Given the description of an element on the screen output the (x, y) to click on. 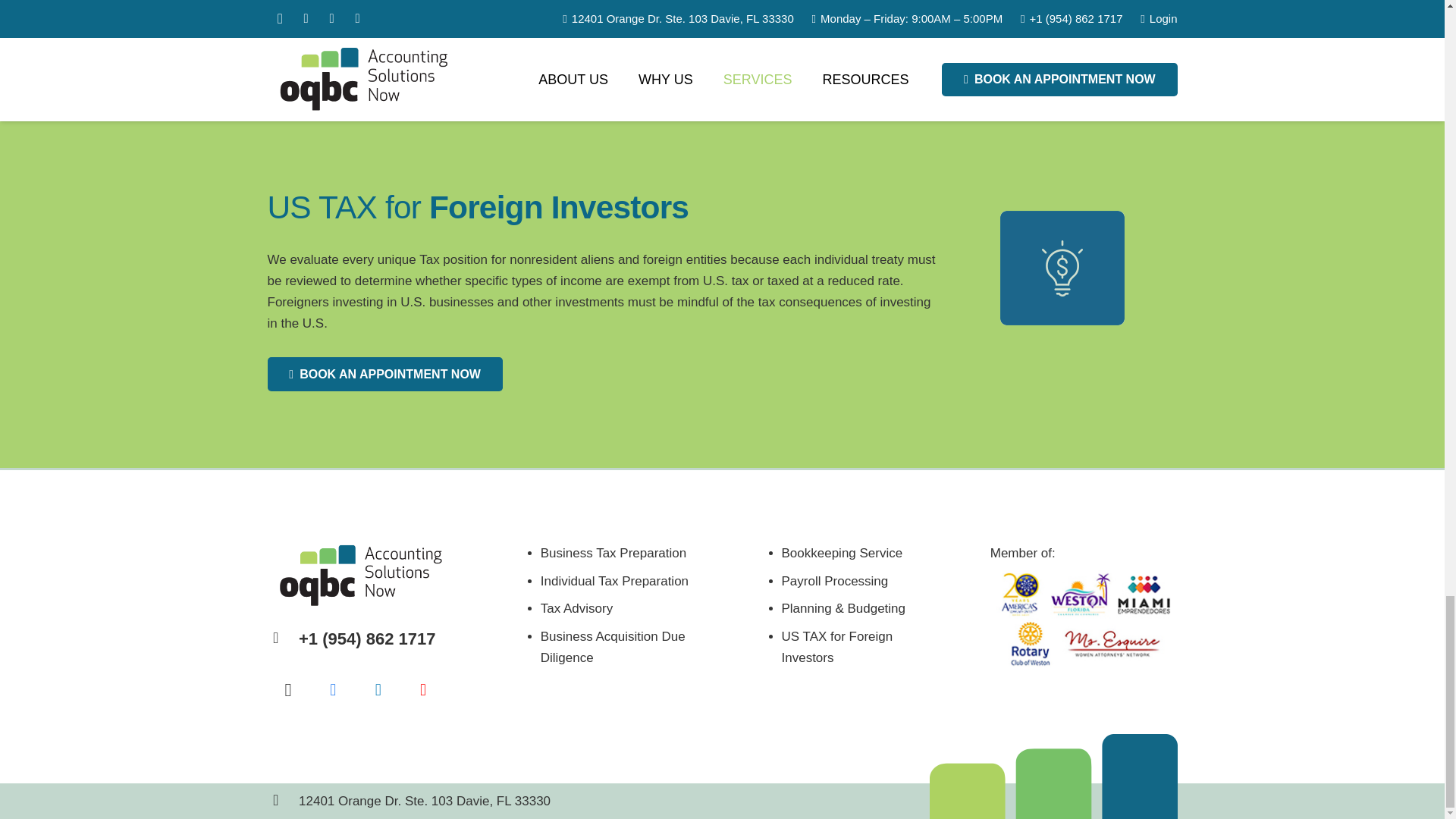
Instagram (287, 689)
US TAX for Foreign Investors (836, 647)
Bookkeeping Service (841, 553)
Individual Tax Preparation (614, 581)
Tax Advisory (576, 608)
LinkedIn (377, 689)
Facebook (333, 689)
Payroll Processing (834, 581)
Page 1 (1083, 553)
Business Acquisition Due Diligence (612, 647)
BOOK AN APPOINTMENT NOW (621, 18)
YouTube (423, 689)
Page 1 (842, 605)
12401 Orange Dr. Ste. 103 Davie, FL 33330 (424, 800)
Business Tax Preparation (612, 553)
